Given the description of an element on the screen output the (x, y) to click on. 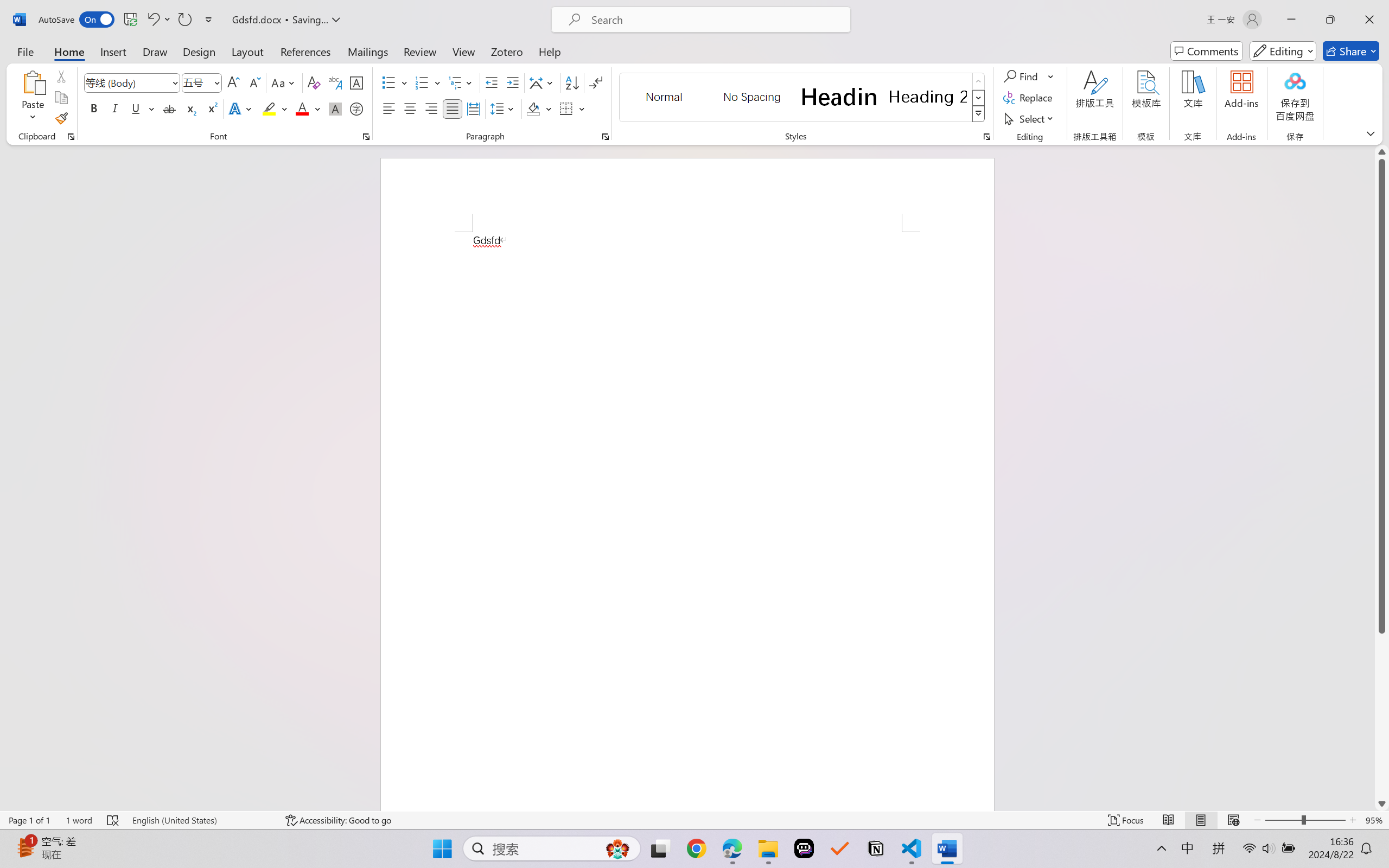
Increase Indent (512, 82)
Row up (978, 81)
Office Clipboard... (70, 136)
